Given the description of an element on the screen output the (x, y) to click on. 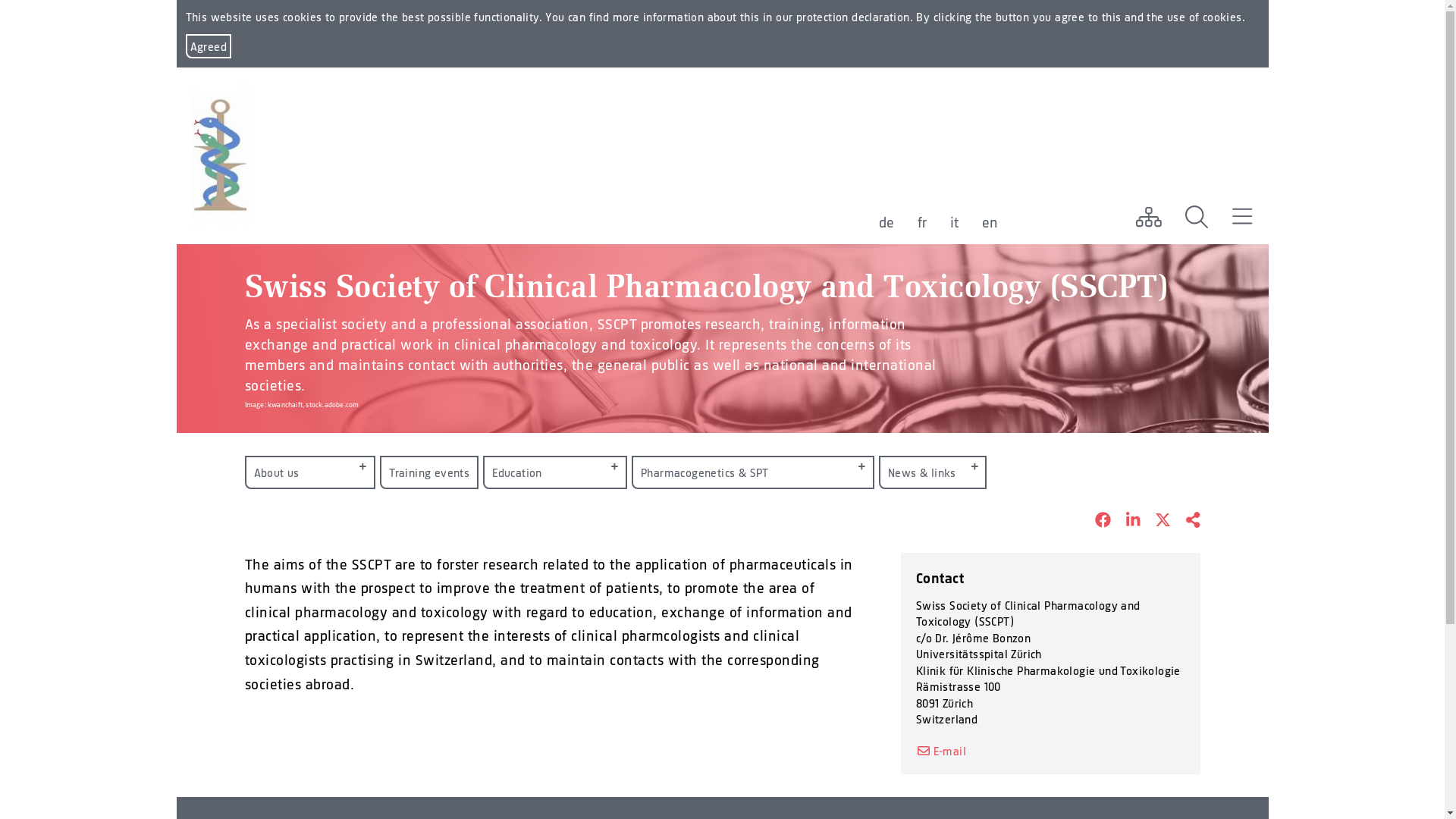
Pharmacogenetics & SPT Element type: text (752, 472)
it Element type: text (953, 222)
Menu Element type: hover (1241, 216)
E-mail Element type: text (941, 751)
Share as short link Element type: hover (1184, 520)
de Element type: text (886, 222)
protection declaration Element type: text (853, 16)
Network Element type: hover (1147, 216)
Education Element type: text (554, 472)
Agreed Element type: text (207, 46)
Share on Facebook Element type: hover (1094, 520)
Training events Element type: text (428, 472)
Share on LinkedIn Element type: hover (1124, 520)
About us Element type: text (309, 472)
Search Element type: hover (1196, 216)
fr Element type: text (922, 222)
News & links Element type: text (932, 472)
Share on X Element type: hover (1154, 520)
en Element type: text (989, 222)
